Given the description of an element on the screen output the (x, y) to click on. 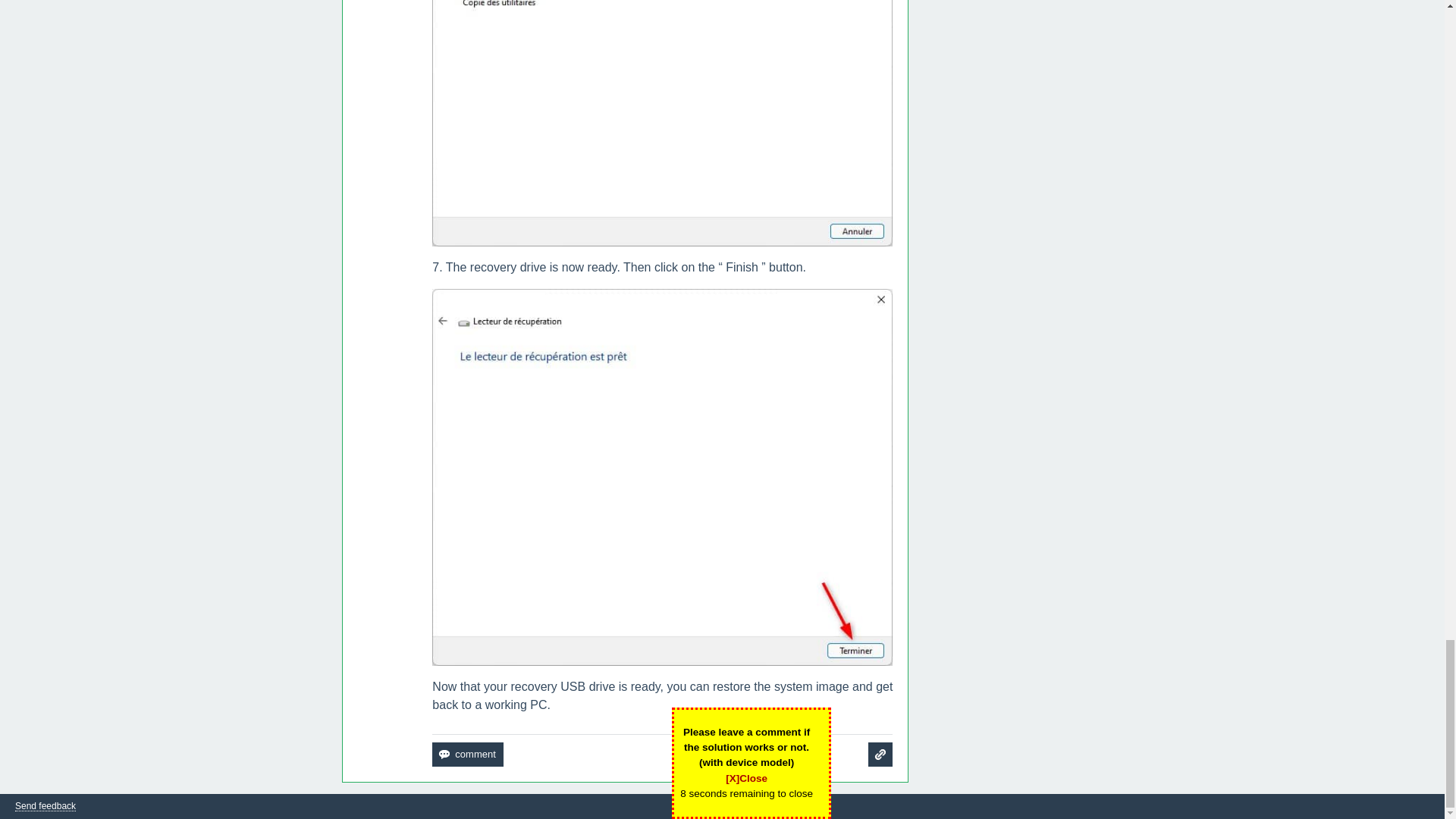
Ask a new question relating to this answer (879, 754)
ask related question (879, 754)
comment (467, 754)
ask related question (879, 754)
Add a comment on this answer (467, 754)
comment (467, 754)
